Given the description of an element on the screen output the (x, y) to click on. 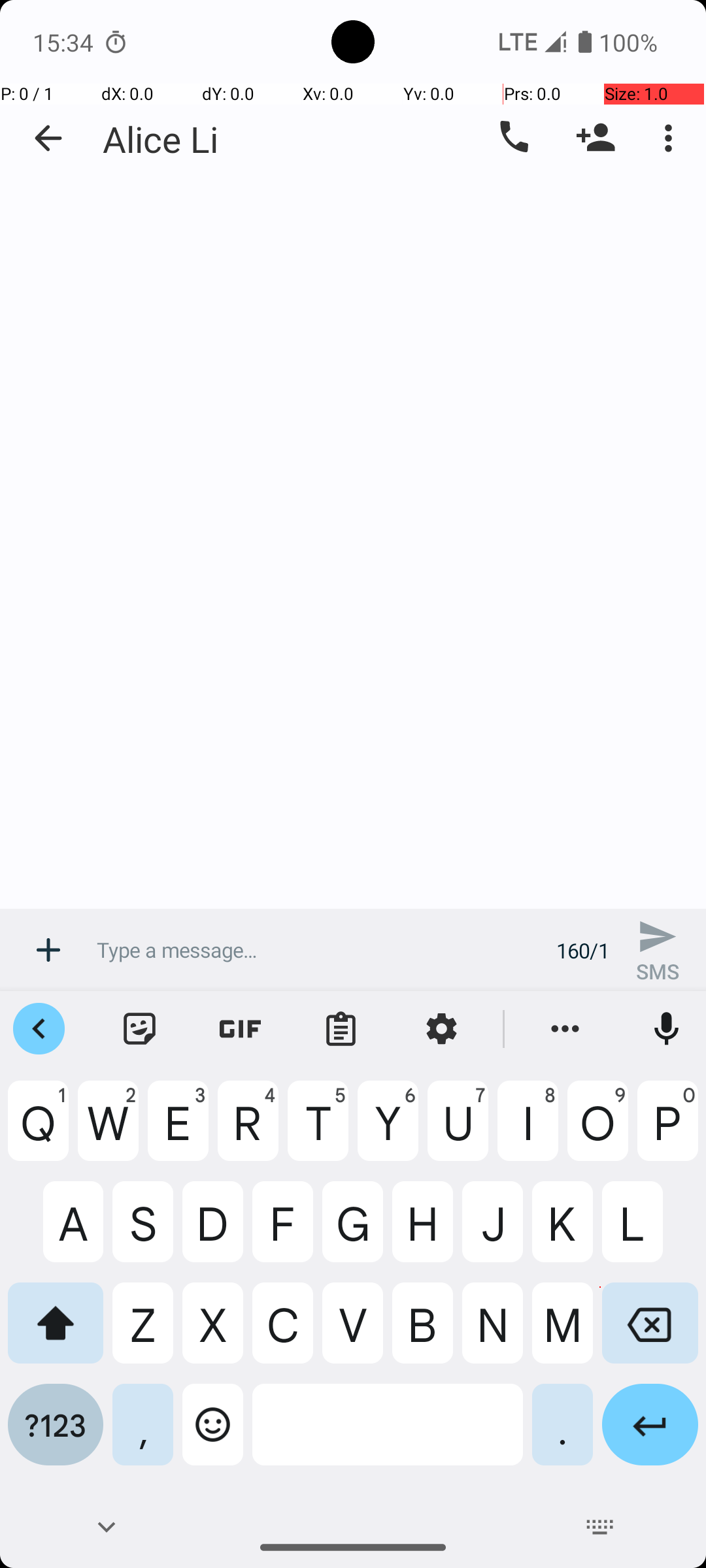
Alice Li Element type: android.widget.TextView (160, 138)
160/1 Element type: android.widget.TextView (582, 950)
